Given the description of an element on the screen output the (x, y) to click on. 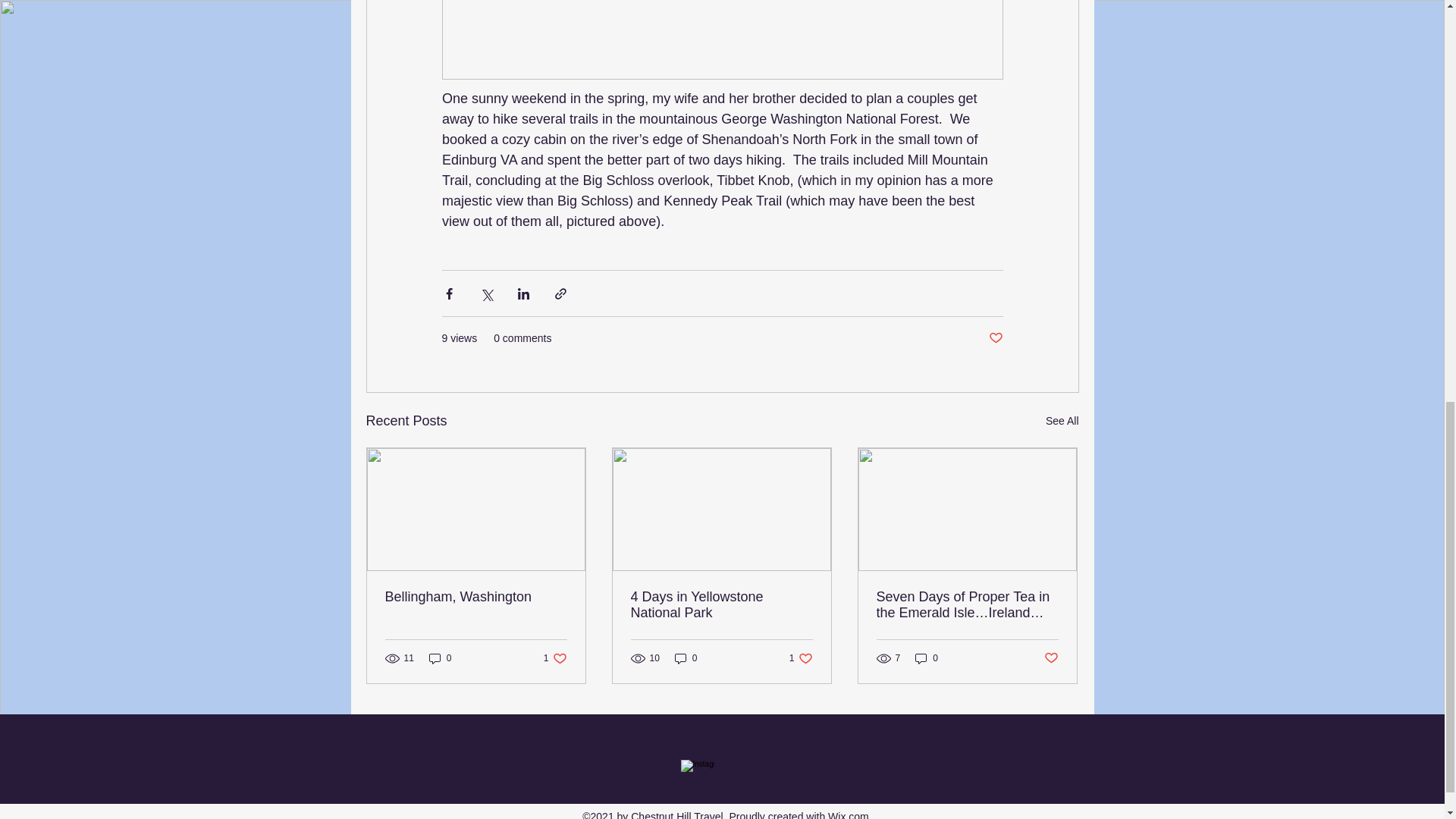
0 (926, 657)
Post not marked as liked (995, 338)
0 (440, 657)
4 Days in Yellowstone National Park (721, 604)
See All (1061, 421)
Post not marked as liked (1050, 658)
0 (685, 657)
Bellingham, Washington (800, 657)
